Given the description of an element on the screen output the (x, y) to click on. 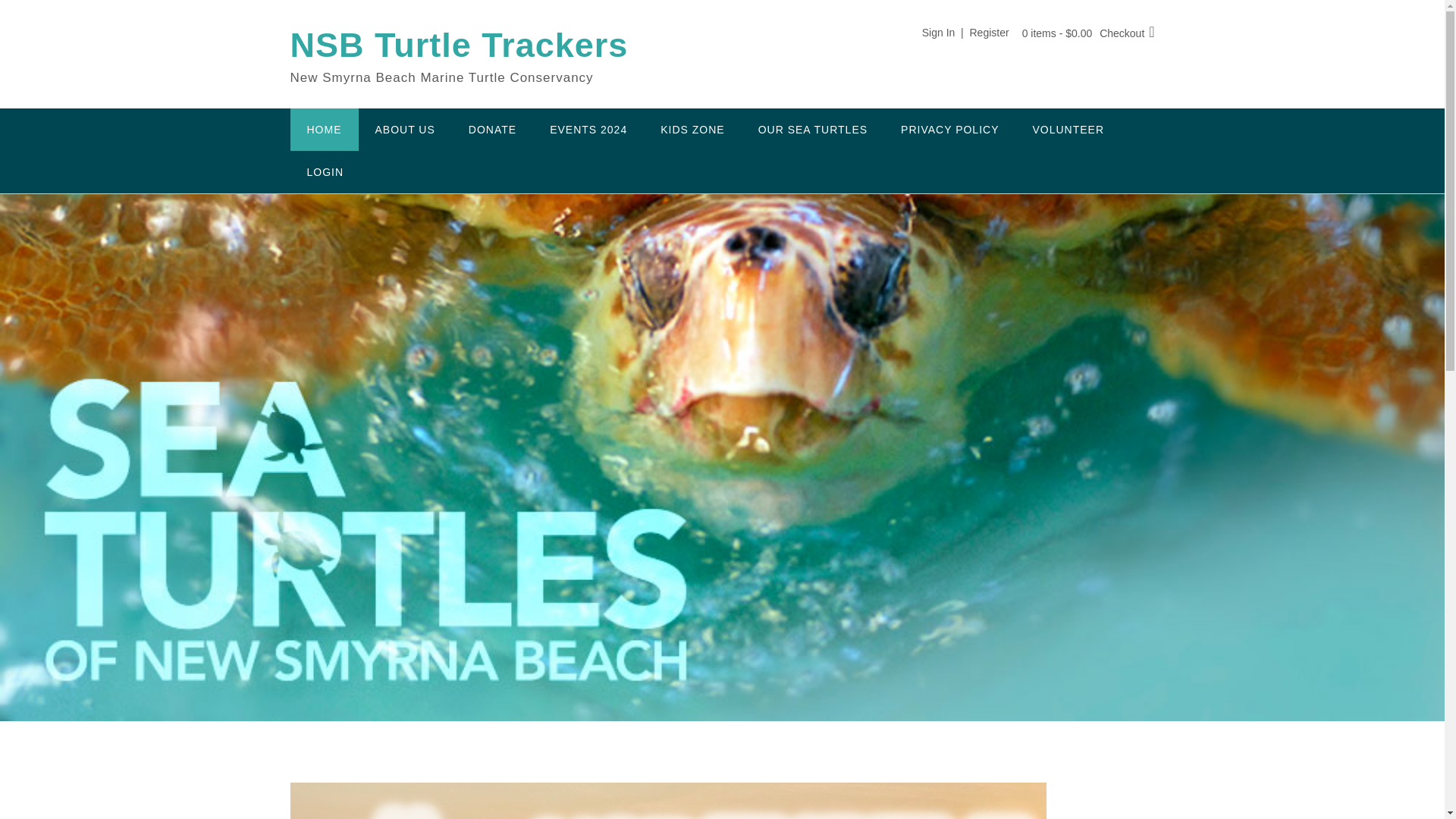
ABOUT US (404, 129)
HOME (323, 129)
OUR SEA TURTLES (812, 129)
DONATE (491, 129)
VOLUNTEER (1068, 129)
PRIVACY POLICY (948, 129)
EVENTS 2024 (587, 129)
KIDS ZONE (692, 129)
NSB Turtle Trackers (458, 45)
LOGIN (324, 171)
NSB Turtle Trackers (458, 45)
